Given the description of an element on the screen output the (x, y) to click on. 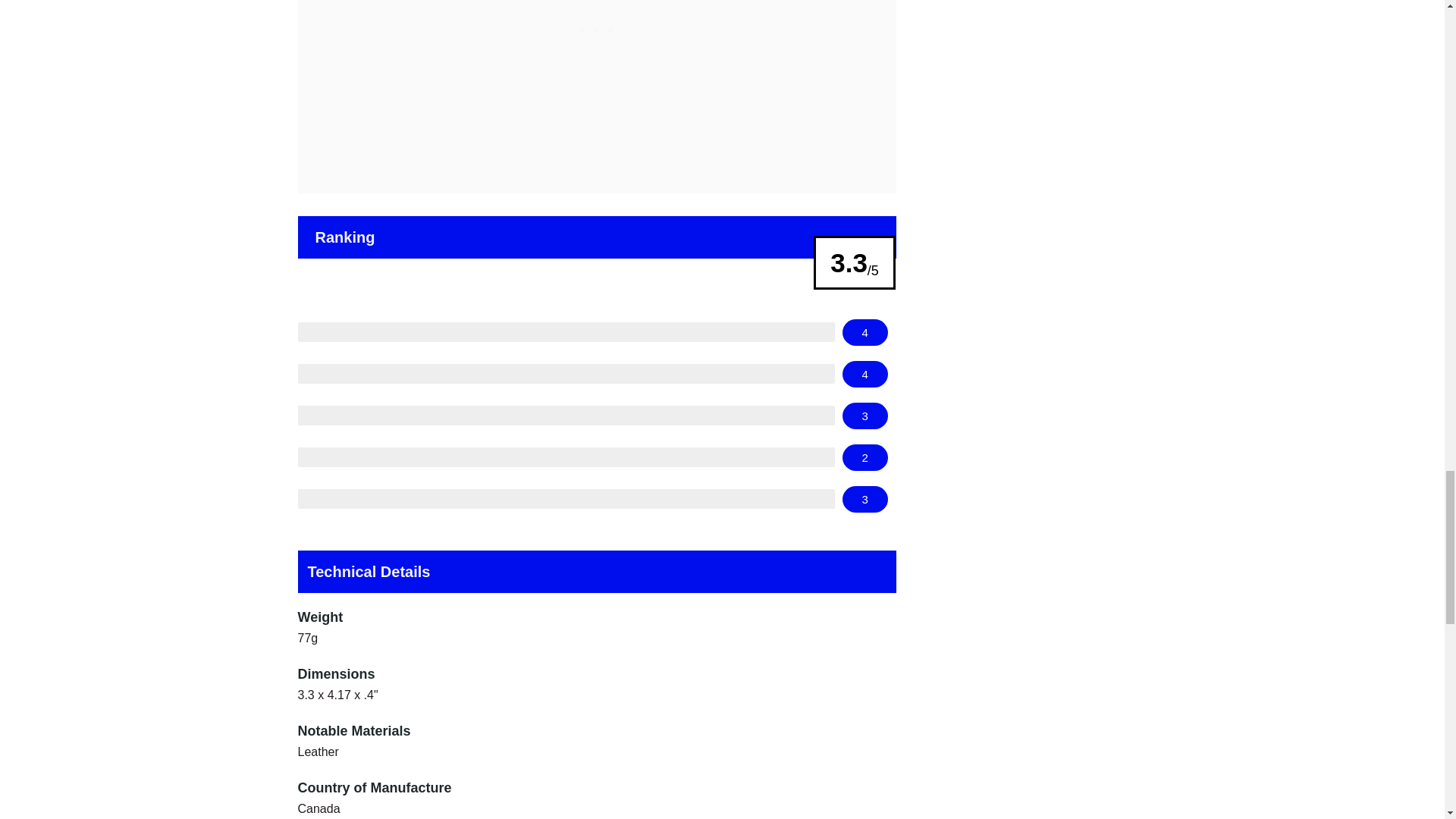
3 (865, 415)
3 (865, 499)
2 (865, 457)
4 (865, 332)
4 (865, 374)
